Given the description of an element on the screen output the (x, y) to click on. 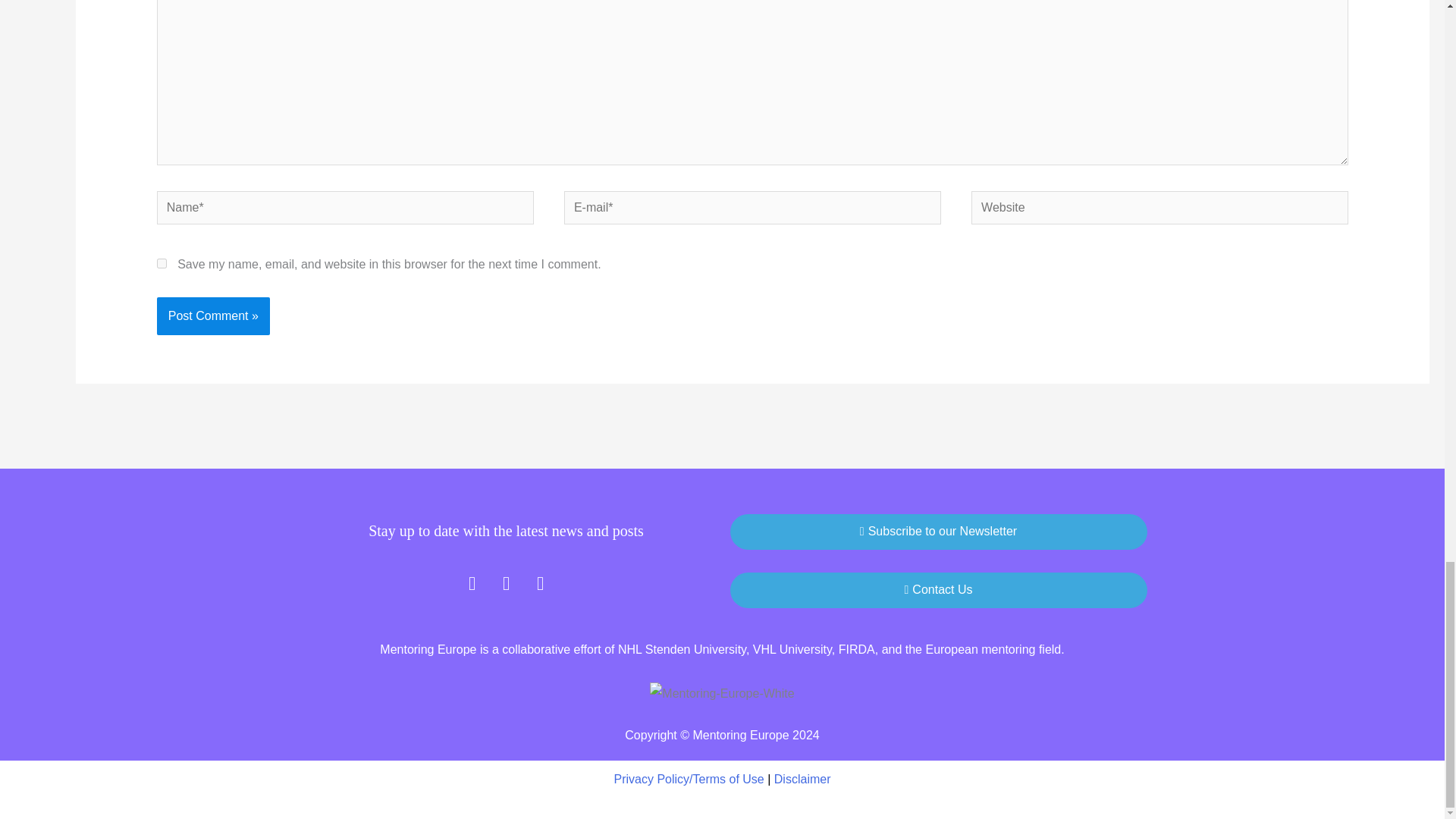
yes (162, 263)
Mentoring-Europe-White (721, 693)
